Given the description of an element on the screen output the (x, y) to click on. 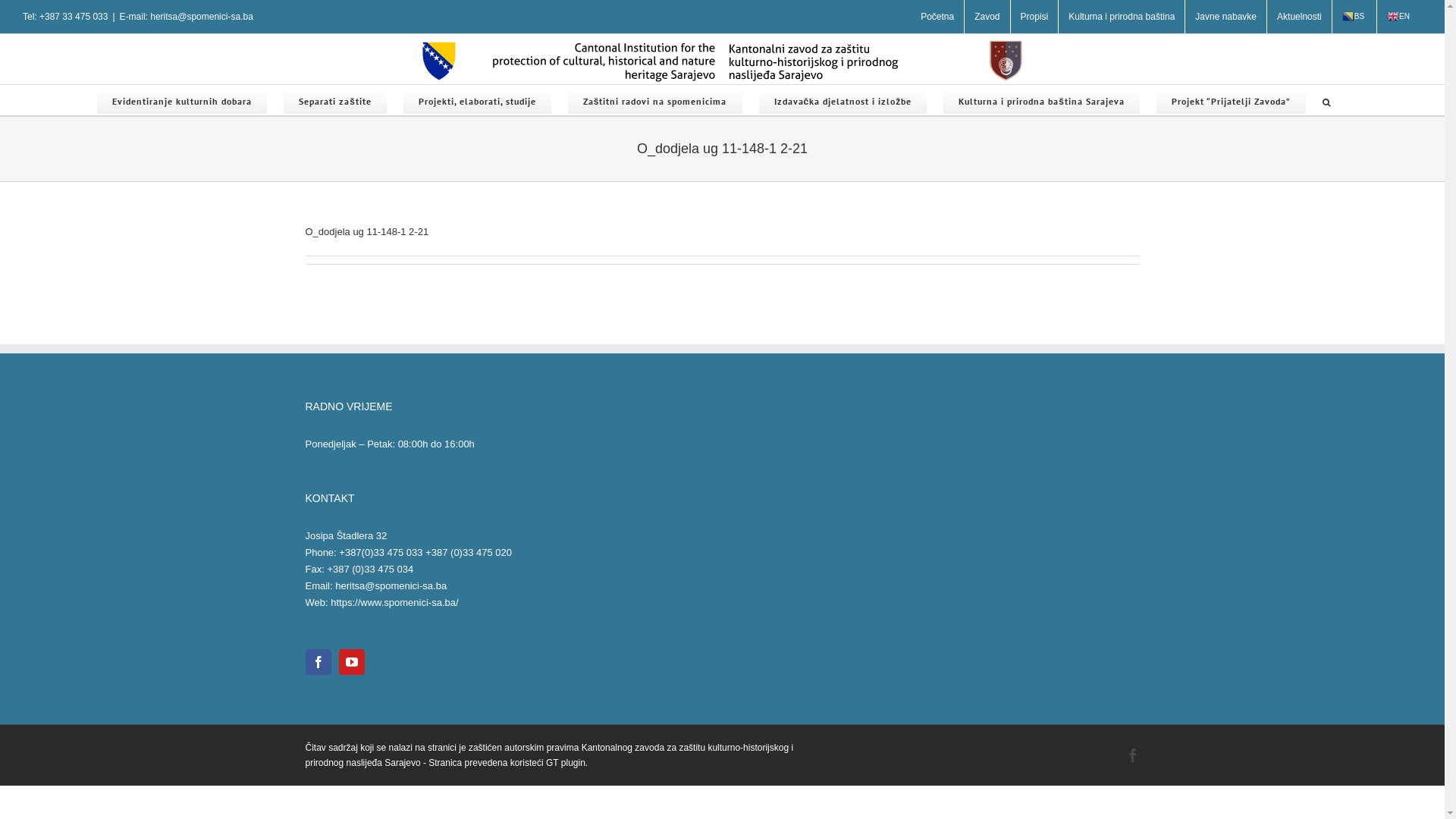
BS Element type: text (1354, 16)
Facebook Element type: text (1132, 755)
O_dodjela ug 11-148-1 2-21 Element type: text (366, 231)
Projekti, elaborati, studije Element type: text (477, 99)
https://www.spomenici-sa.ba/ Element type: text (394, 602)
EN Element type: text (1399, 16)
Aktuelnosti Element type: text (1299, 16)
heritsa@spomenici-sa.ba Element type: text (390, 585)
Propisi Element type: text (1034, 16)
Search Element type: hover (1326, 99)
Evidentiranje kulturnih dobara Element type: text (181, 99)
E-mail: heritsa@spomenici-sa.ba Element type: text (186, 16)
Javne nabavke Element type: text (1225, 16)
Zavod Element type: text (986, 16)
